Given the description of an element on the screen output the (x, y) to click on. 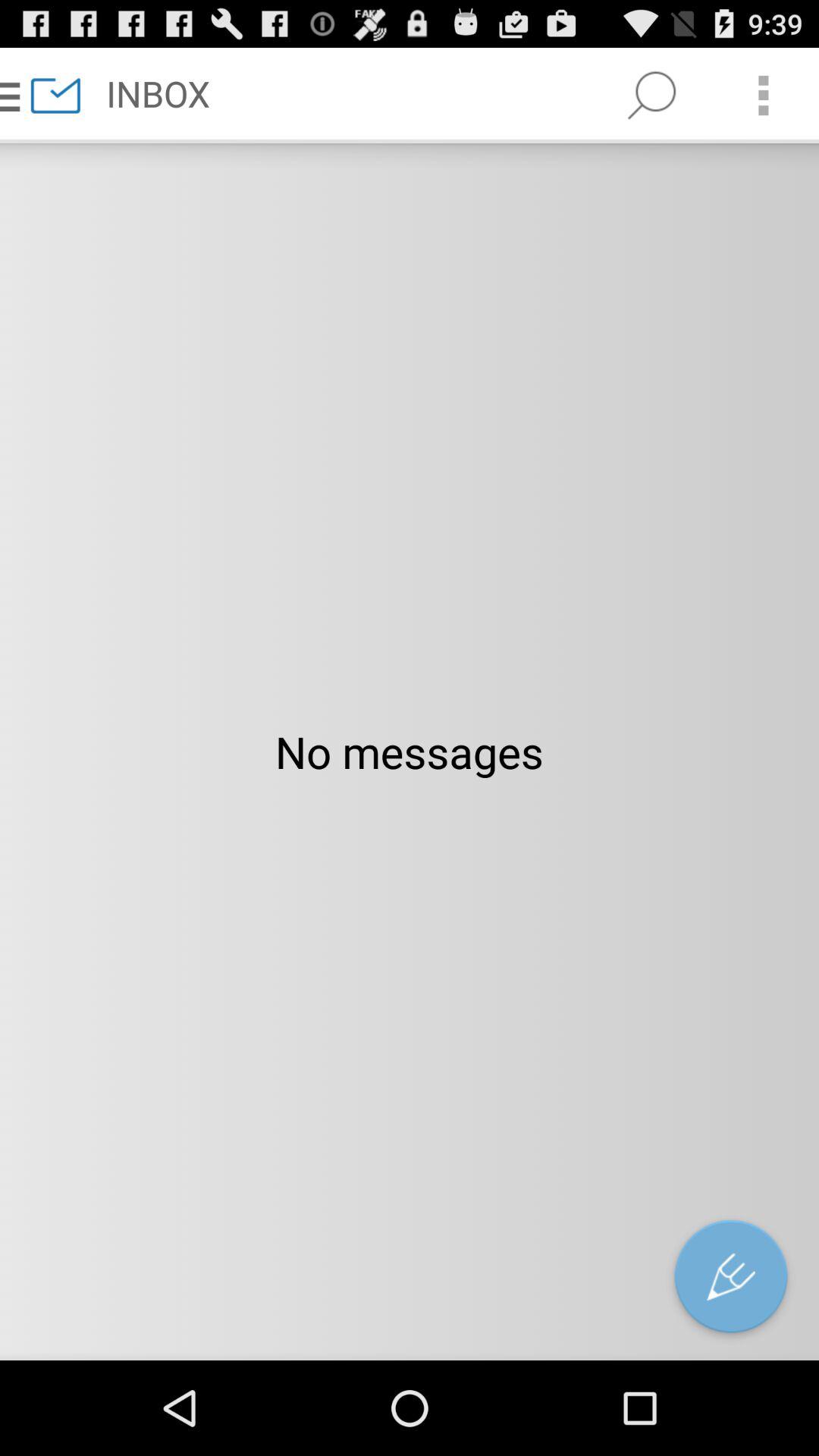
write something (730, 1280)
